Given the description of an element on the screen output the (x, y) to click on. 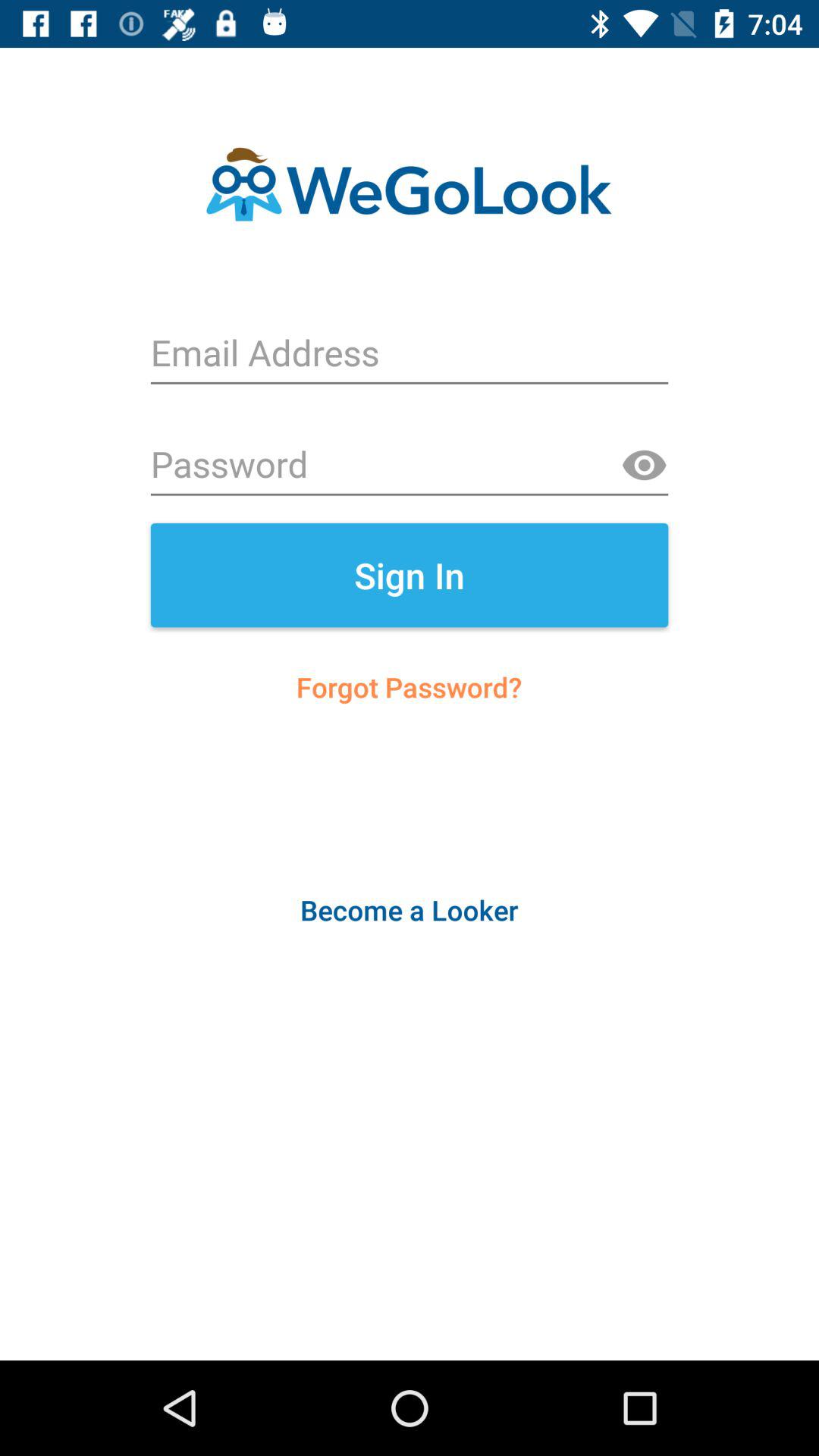
toggle show password option (644, 465)
